Given the description of an element on the screen output the (x, y) to click on. 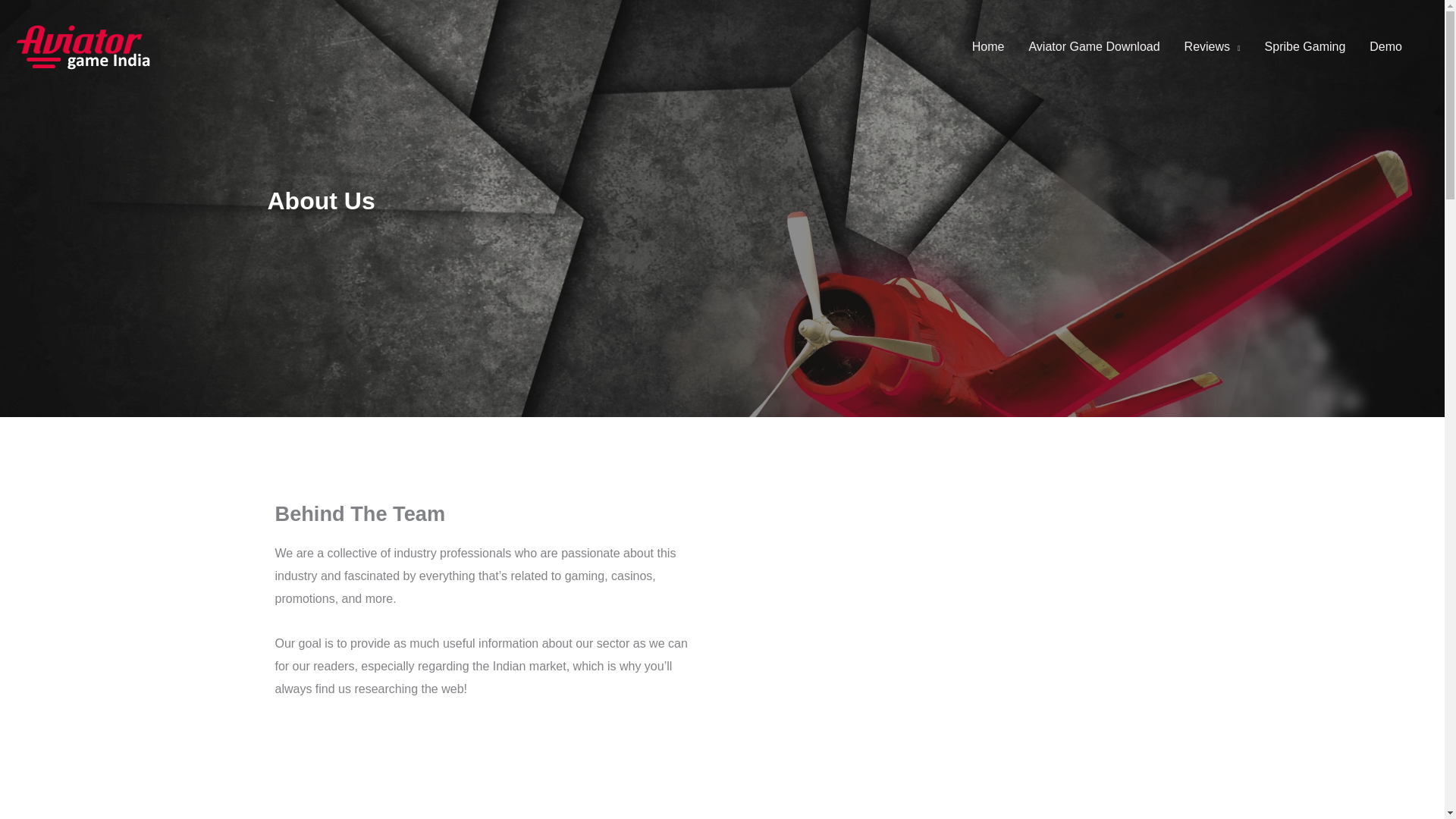
Spribe Gaming (1305, 46)
Demo (1384, 46)
Aviator Game Download (1094, 46)
Home (987, 46)
Reviews (1212, 46)
